Given the description of an element on the screen output the (x, y) to click on. 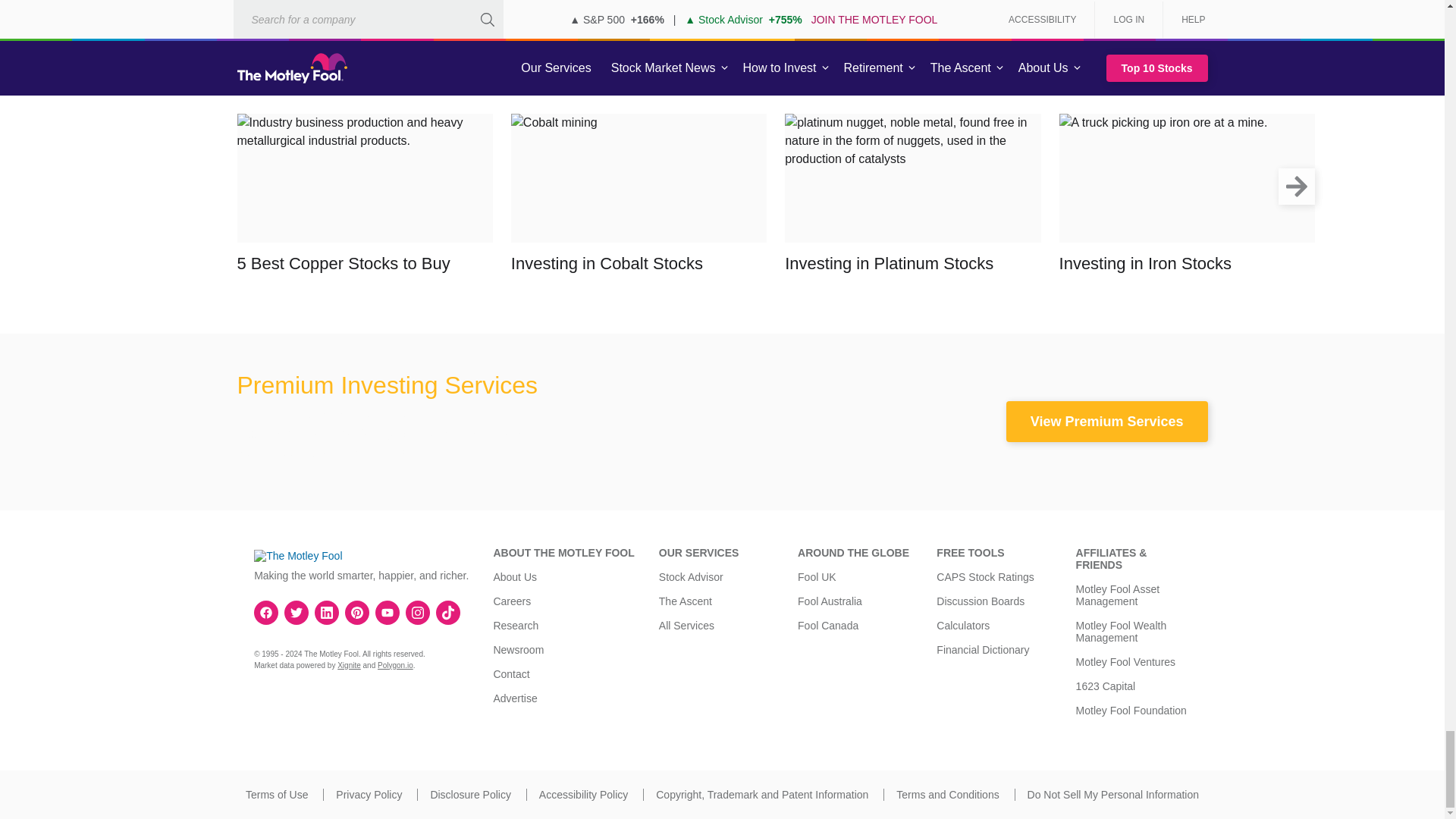
Privacy Policy (368, 794)
Copyright, Trademark and Patent Information (761, 794)
Disclosure Policy (470, 794)
Terms and Conditions (947, 794)
Accessibility Policy (582, 794)
Terms of Use (276, 794)
Do Not Sell My Personal Information. (1112, 794)
